Given the description of an element on the screen output the (x, y) to click on. 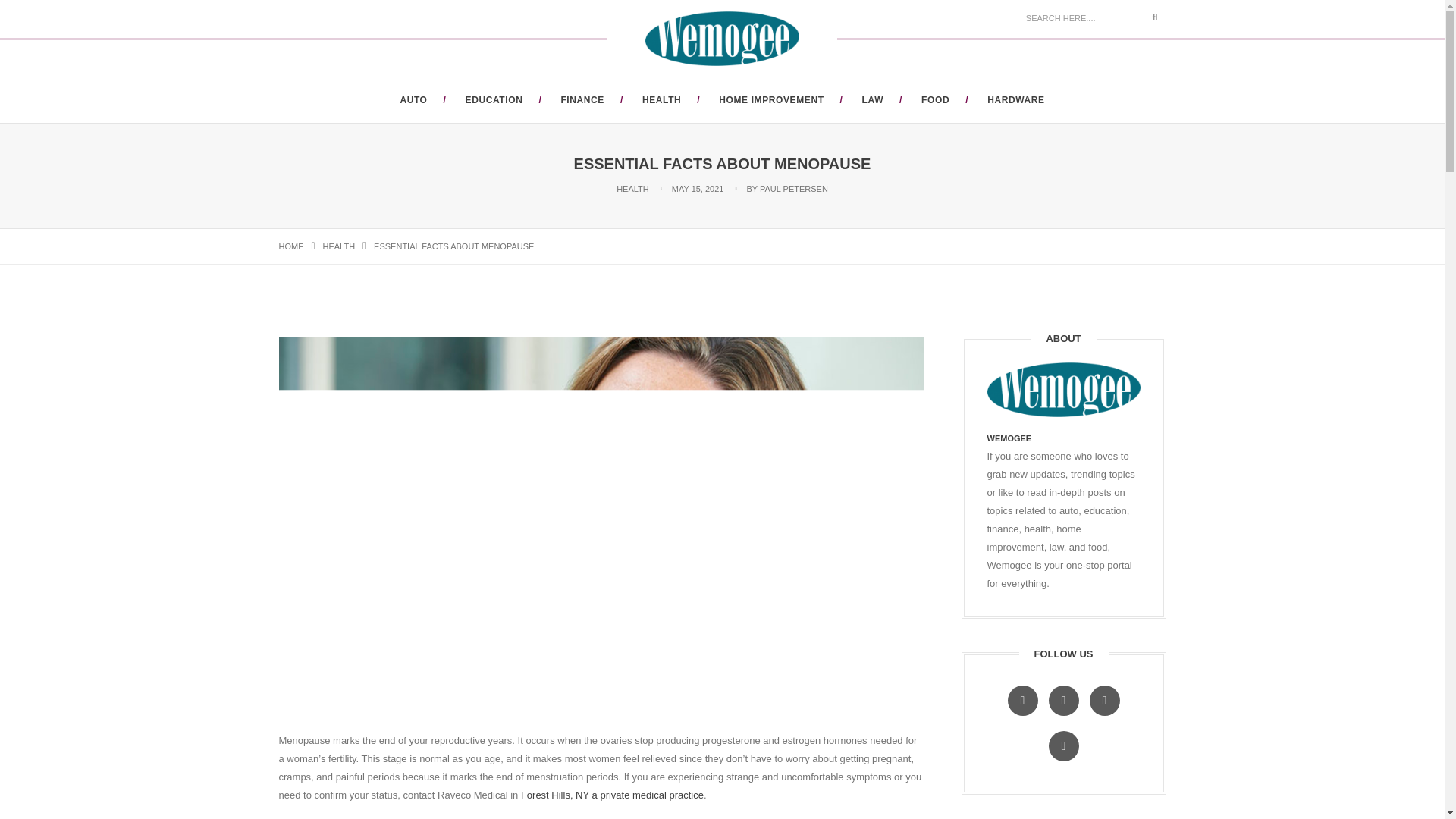
HOME (291, 245)
HOME IMPROVEMENT (771, 100)
LAW (872, 100)
HEALTH (661, 100)
HEALTH (632, 188)
AUTO (412, 100)
HEALTH (339, 245)
HARDWARE (1015, 100)
WEMOGEE (1009, 438)
Forest Hills, NY a private medical practice (610, 794)
